Given the description of an element on the screen output the (x, y) to click on. 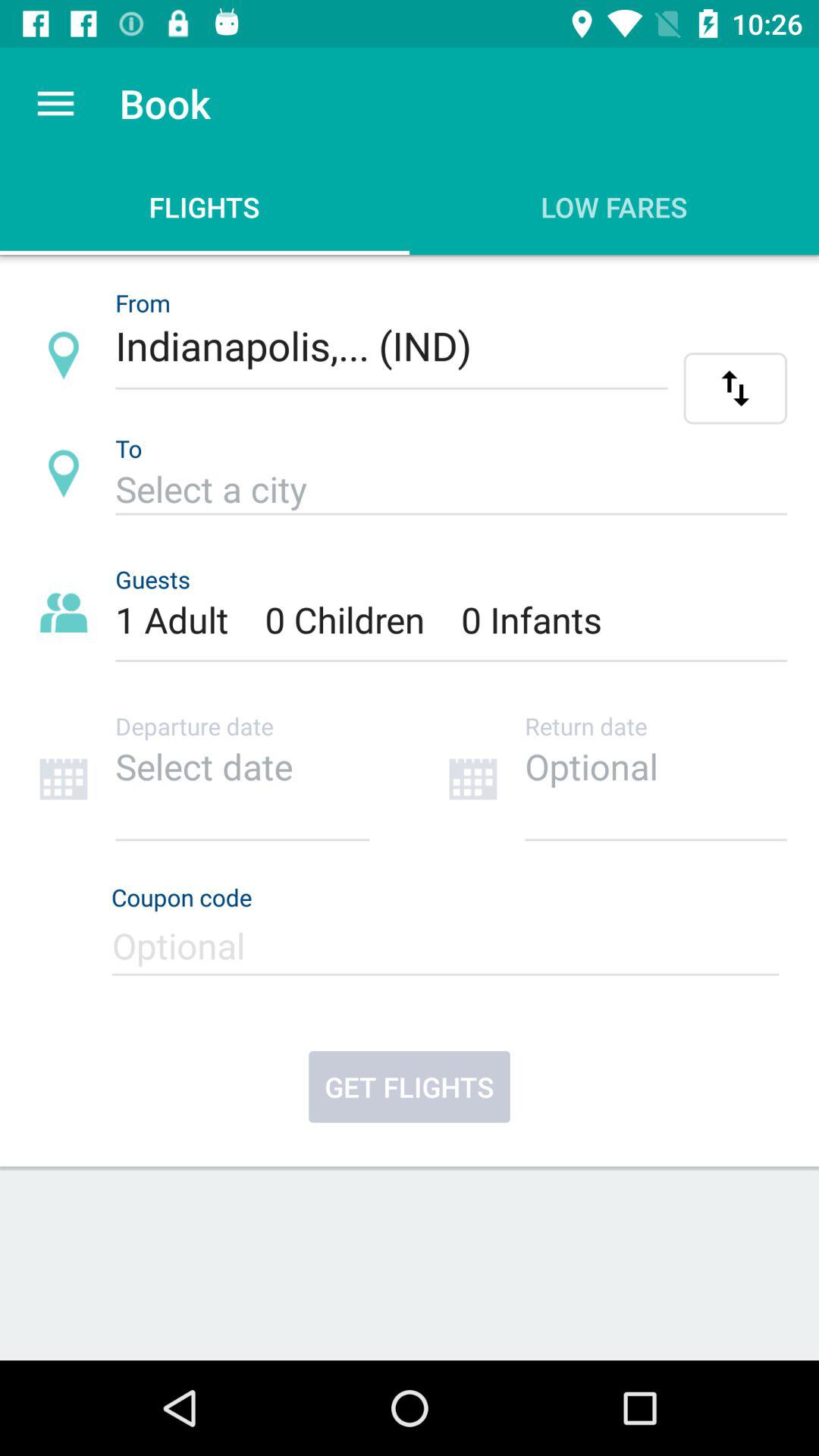
alternate flight info (735, 388)
